Given the description of an element on the screen output the (x, y) to click on. 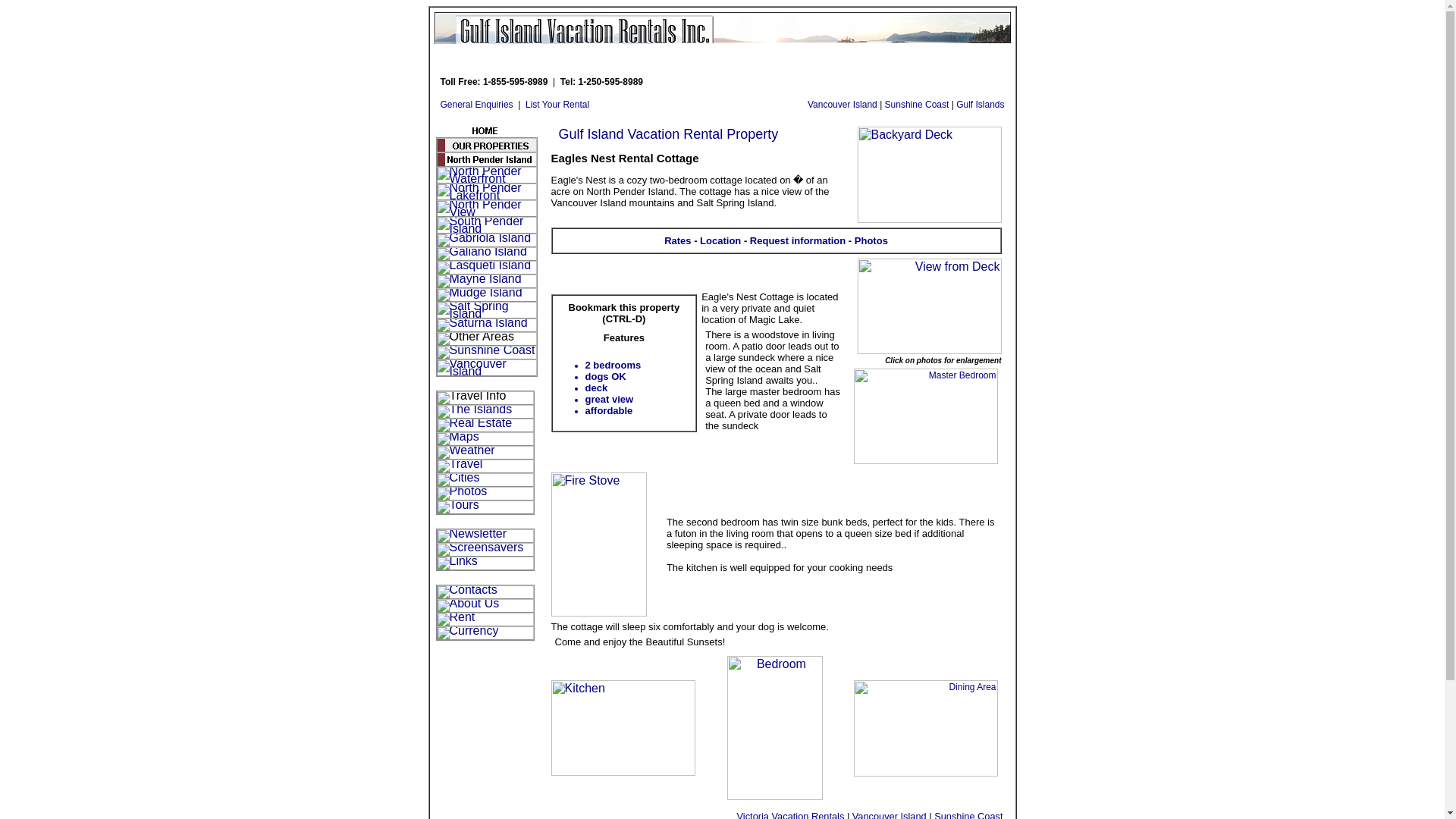
General Enquiries (475, 104)
Sunshine Coast (917, 104)
Gulf Islands (980, 104)
Vancouver Island (842, 104)
Request information (797, 240)
Photos (871, 240)
Location (720, 240)
Rates (676, 240)
List Your Rental (557, 104)
